Given the description of an element on the screen output the (x, y) to click on. 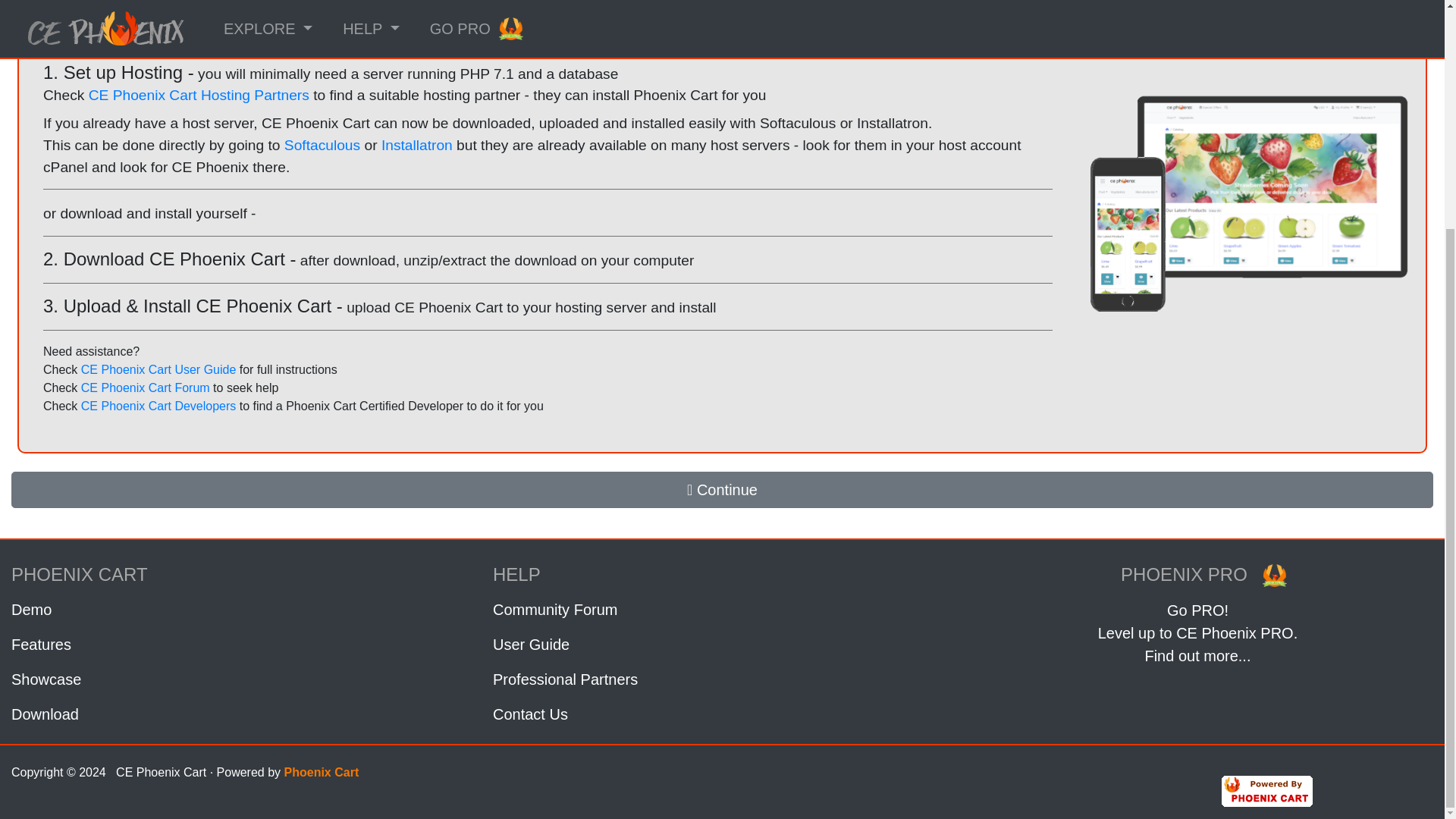
CE Phoenix Cart Forum (145, 387)
Showcase (240, 678)
CE Phoenix Cart Developers (158, 405)
Features (240, 644)
User Guide (722, 644)
Installatron (416, 145)
Phoenix Logo (1274, 575)
Softaculous (321, 145)
Community Forum (722, 609)
Demo (240, 609)
 ... DOWNLOAD NOW   (547, 22)
Professional Partners (722, 678)
CE Phoenix Cart Hosting Partners (198, 94)
Contact Us (722, 714)
CE Phoenix Cart User Guide (158, 369)
